Given the description of an element on the screen output the (x, y) to click on. 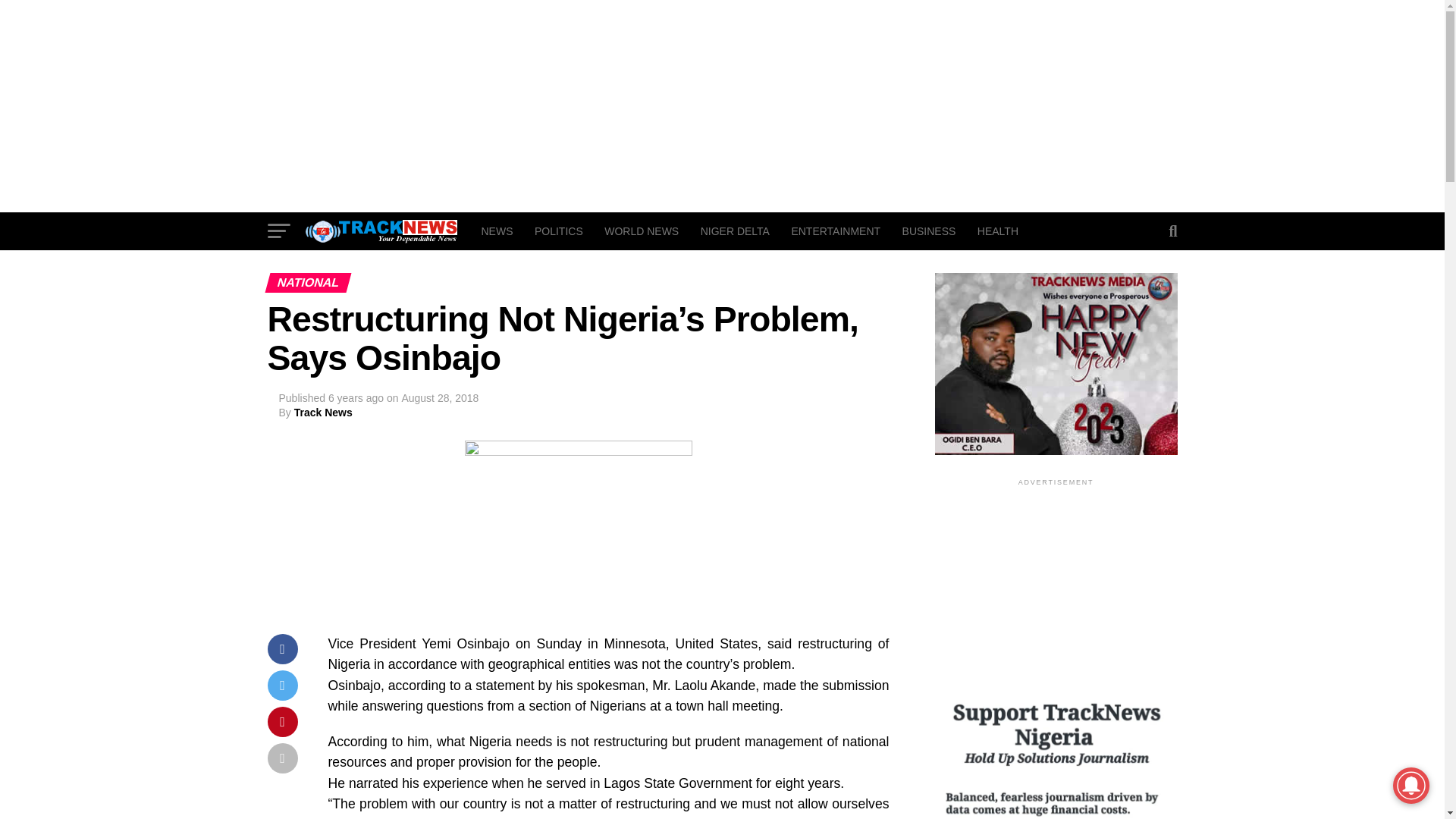
NEWS (496, 231)
WORLD NEWS (641, 231)
POLITICS (558, 231)
NIGER DELTA (734, 231)
Posts by Track News (323, 412)
ENTERTAINMENT (835, 231)
